Given the description of an element on the screen output the (x, y) to click on. 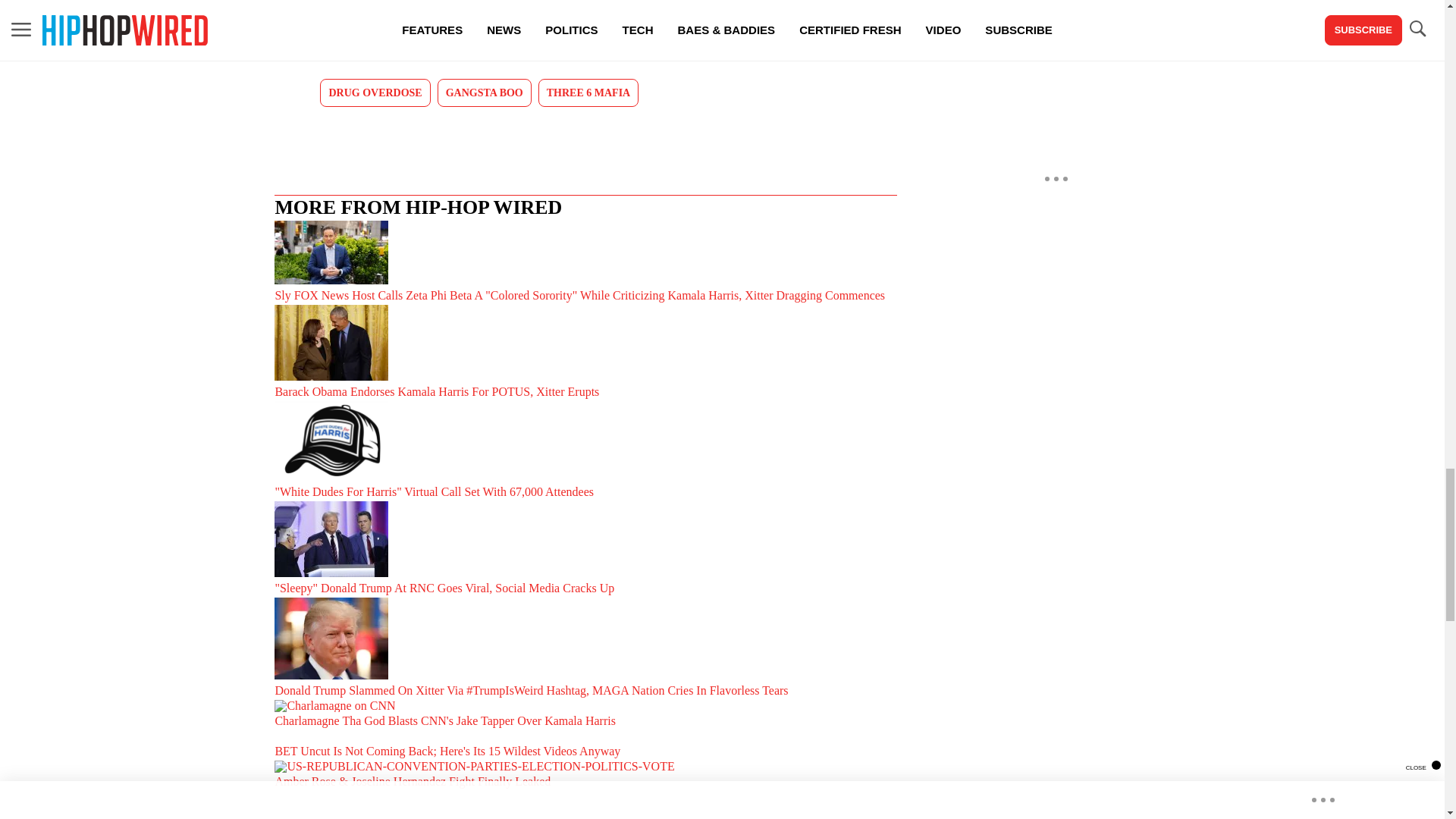
Barack Obama Endorses Kamala Harris For POTUS, Xitter Erupts (585, 352)
THREE 6 MAFIA (588, 92)
GANGSTA BOO (484, 92)
DRUG OVERDOSE (374, 92)
